Given the description of an element on the screen output the (x, y) to click on. 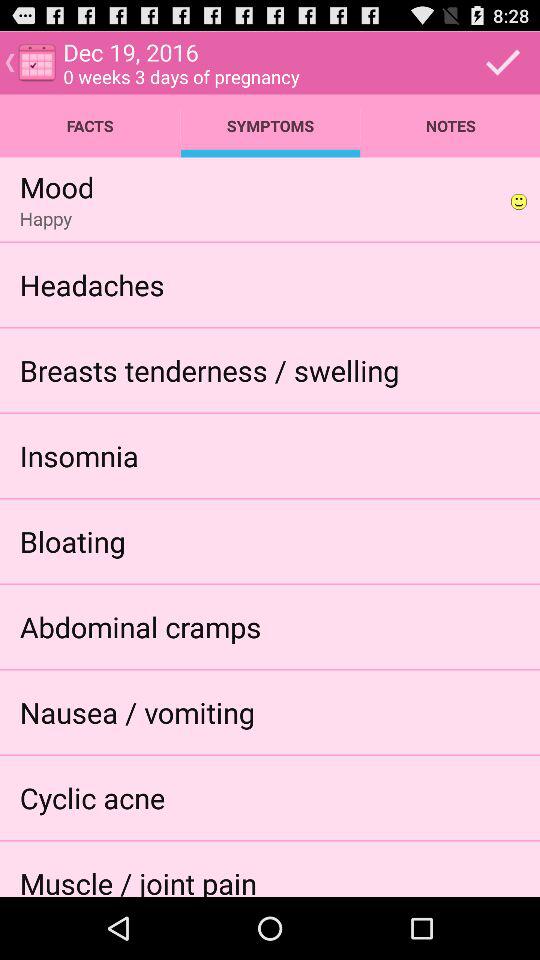
complete entry (503, 62)
